Given the description of an element on the screen output the (x, y) to click on. 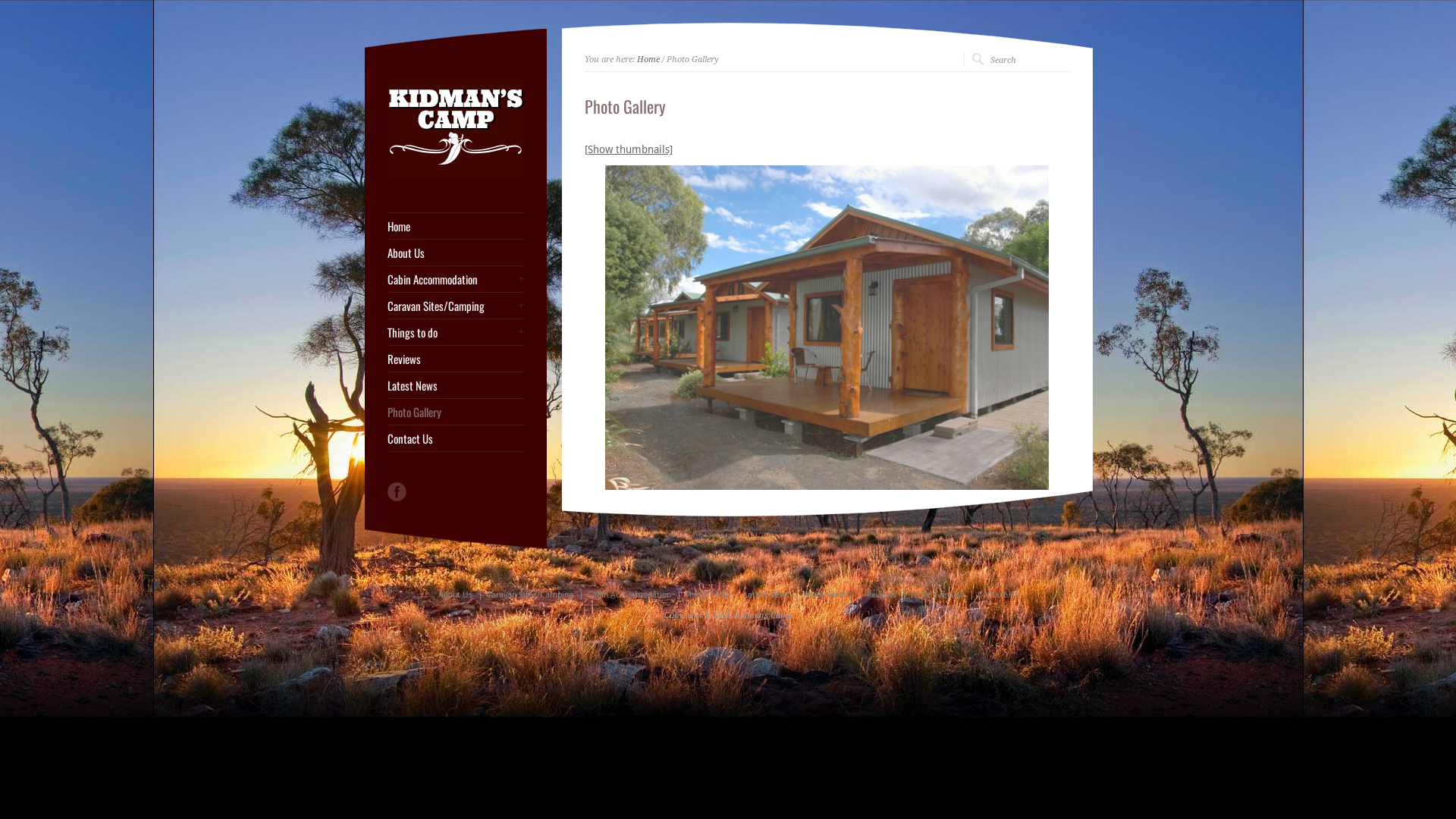
Photo Gallery Element type: text (454, 411)
Reviews Element type: text (881, 594)
Contact Us Element type: text (454, 438)
Cabin Accommodation Element type: text (454, 279)
Latest News Element type: text (766, 594)
Reviews Element type: text (454, 358)
Cabin Accommodation Element type: text (628, 594)
About Us Element type: text (455, 594)
Contact Us Element type: text (997, 594)
Things to do Element type: text (454, 332)
Home Element type: text (648, 59)
About Us Element type: text (454, 252)
Latest News Element type: text (454, 385)
Kidman's Camp Element type: hover (454, 173)
Home Element type: text (454, 226)
Caravan Sites/Camping Element type: text (529, 594)
[Show thumbnails] Element type: text (627, 149)
Photo Gallery Element type: text (828, 594)
Caravan Sites/Camping Element type: text (454, 305)
Write a review Element type: text (936, 594)
Things to do Element type: text (707, 594)
